Given the description of an element on the screen output the (x, y) to click on. 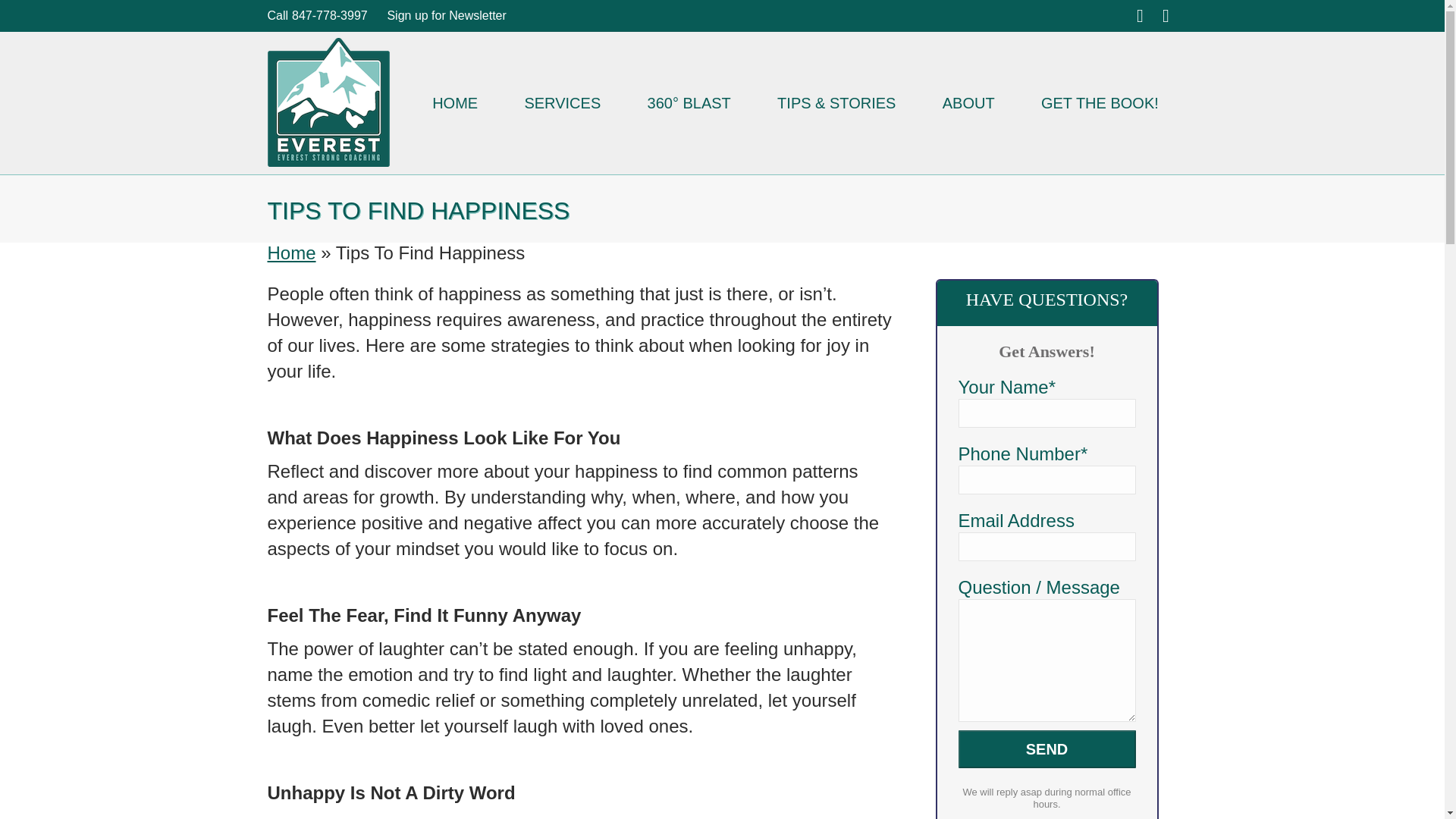
GET THE BOOK! (1099, 103)
Sign up for Newsletter (446, 15)
Mail page opens in new window (1165, 15)
847-778-3997 (328, 15)
Instagram page opens in new window (1139, 15)
HOME (454, 103)
Mail page opens in new window (1165, 15)
Instagram page opens in new window (1139, 15)
SEND (1046, 749)
ABOUT (968, 103)
